Given the description of an element on the screen output the (x, y) to click on. 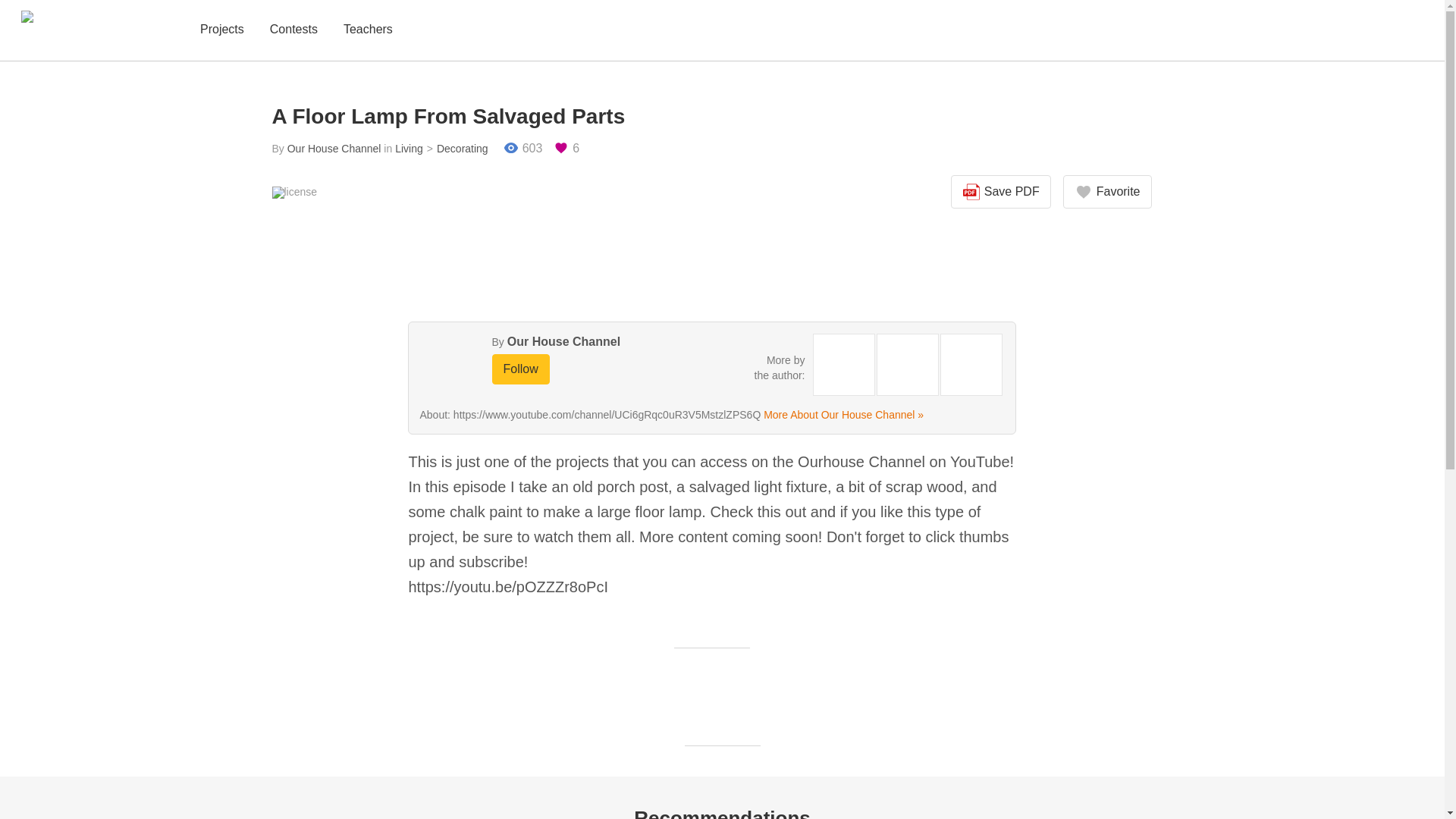
Projects (221, 30)
Teachers (368, 30)
Contests (293, 30)
Decorating (455, 148)
Favorite (1106, 191)
Save PDF (1000, 191)
Follow (520, 368)
Our House Channel (333, 148)
Our House Channel (563, 341)
Living (408, 148)
